Given the description of an element on the screen output the (x, y) to click on. 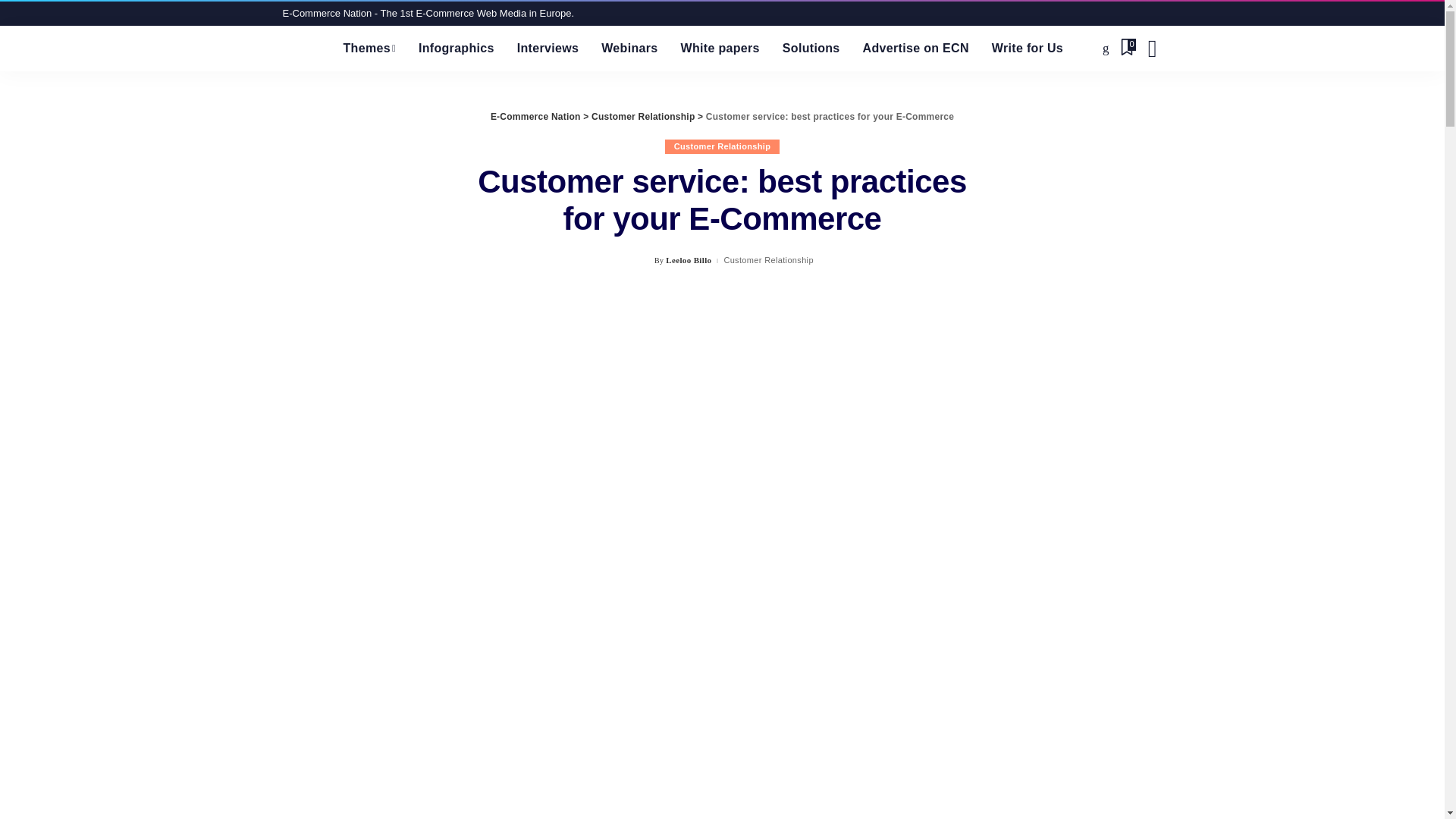
E-Commerce Nation (301, 48)
Go to E-Commerce Nation. (535, 116)
Go to the Customer Relationship category archives. (642, 116)
